Given the description of an element on the screen output the (x, y) to click on. 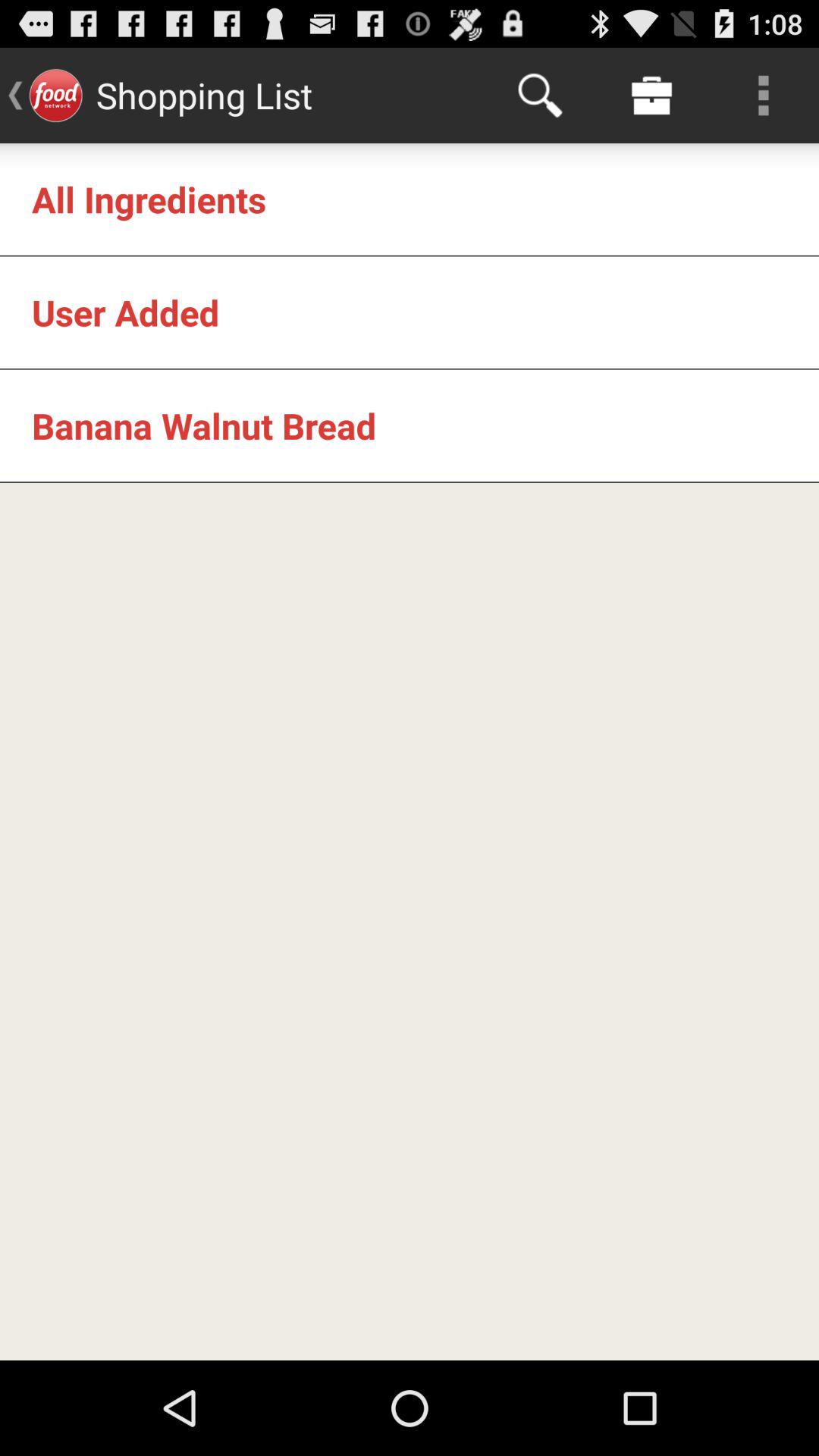
click the all ingredients icon (148, 199)
